Given the description of an element on the screen output the (x, y) to click on. 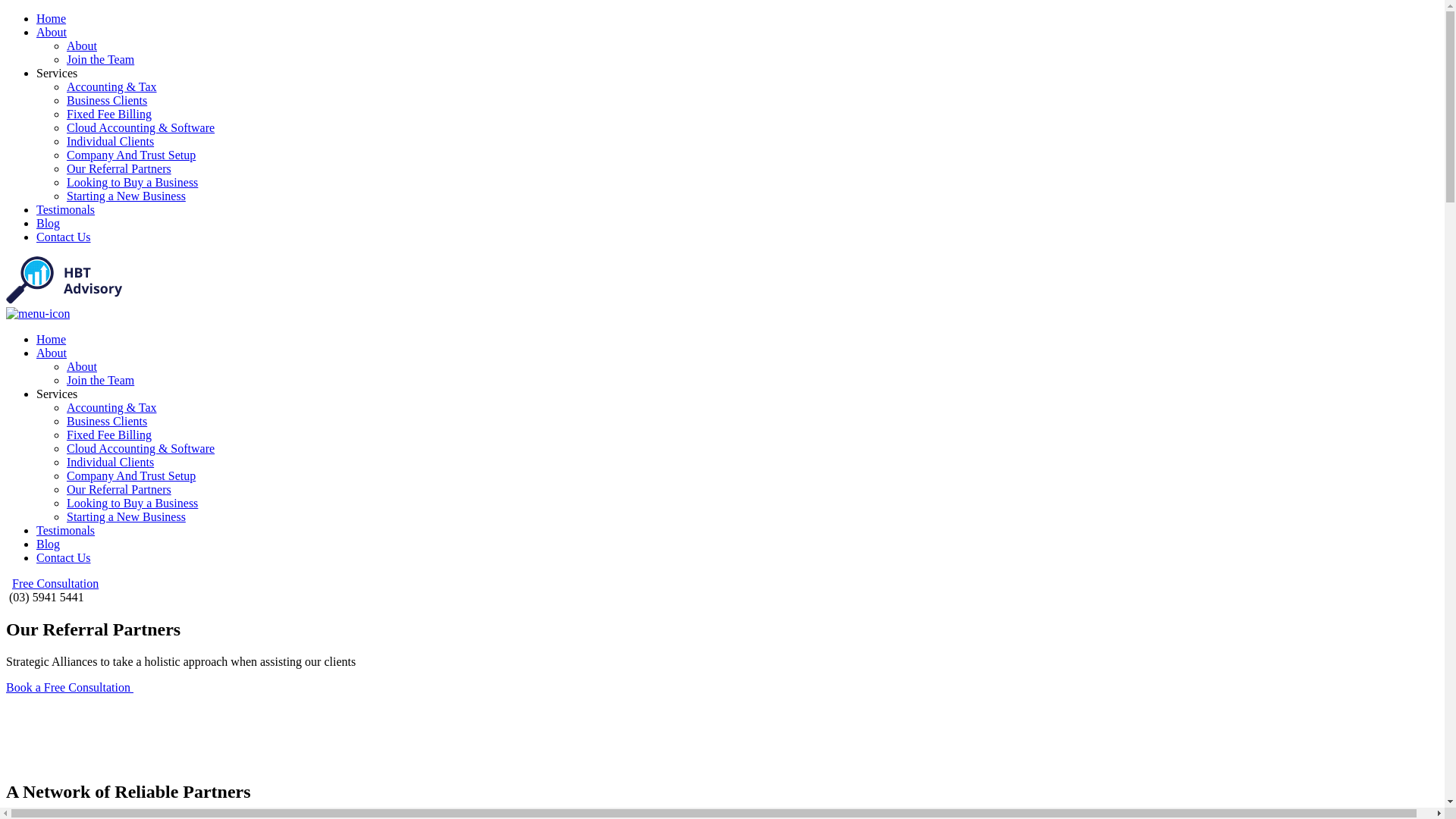
Accounting & Tax Element type: text (111, 407)
Fixed Fee Billing Element type: text (108, 434)
Services Element type: text (56, 393)
Blog Element type: text (47, 543)
Our Referral Partners Element type: text (118, 168)
Contact Us Element type: text (63, 236)
Accounting & Tax Element type: text (111, 86)
Company And Trust Setup Element type: text (130, 154)
Join the Team Element type: text (100, 379)
About Element type: text (81, 45)
Fixed Fee Billing Element type: text (108, 113)
Looking to Buy a Business Element type: text (131, 502)
Business Clients Element type: text (106, 100)
Starting a New Business Element type: text (125, 516)
Looking to Buy a Business Element type: text (131, 181)
Home Element type: text (50, 338)
Testimonals Element type: text (65, 209)
Contact Us Element type: text (63, 557)
Cloud Accounting & Software Element type: text (140, 127)
About Element type: text (51, 31)
Business Clients Element type: text (106, 420)
Blog Element type: text (47, 222)
Company And Trust Setup Element type: text (130, 475)
Home Element type: text (50, 18)
Testimonals Element type: text (65, 530)
About Element type: text (81, 366)
Individual Clients Element type: text (109, 461)
Starting a New Business Element type: text (125, 195)
Individual Clients Element type: text (109, 140)
About Element type: text (51, 352)
Our Referral Partners Element type: text (118, 489)
Free Consultation Element type: text (55, 583)
Join the Team Element type: text (100, 59)
Book a Free Consultation Element type: text (69, 686)
Services Element type: text (56, 72)
Cloud Accounting & Software Element type: text (140, 448)
